Given the description of an element on the screen output the (x, y) to click on. 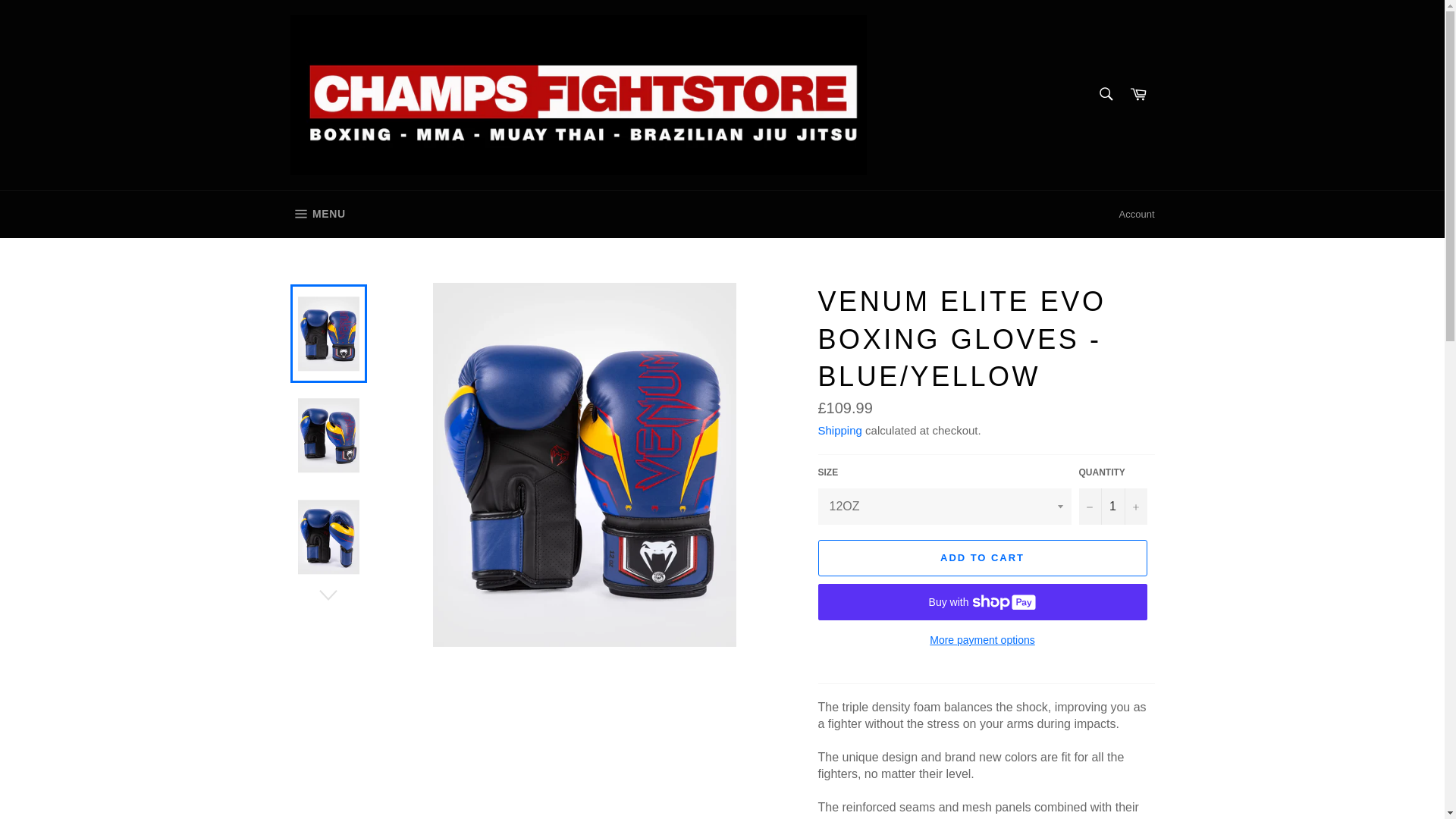
1 (1112, 506)
